Given the description of an element on the screen output the (x, y) to click on. 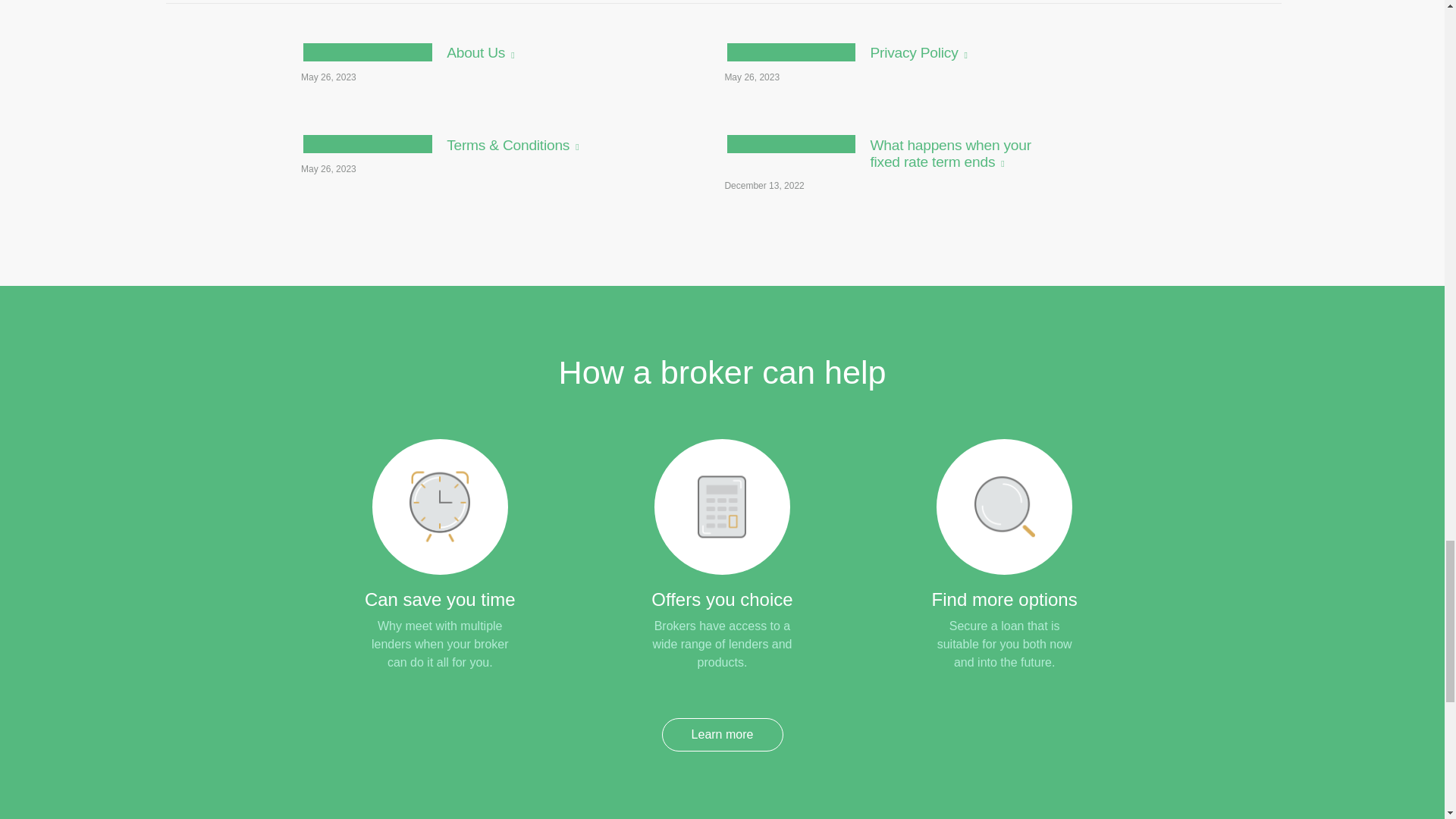
Learn more (722, 734)
